Given the description of an element on the screen output the (x, y) to click on. 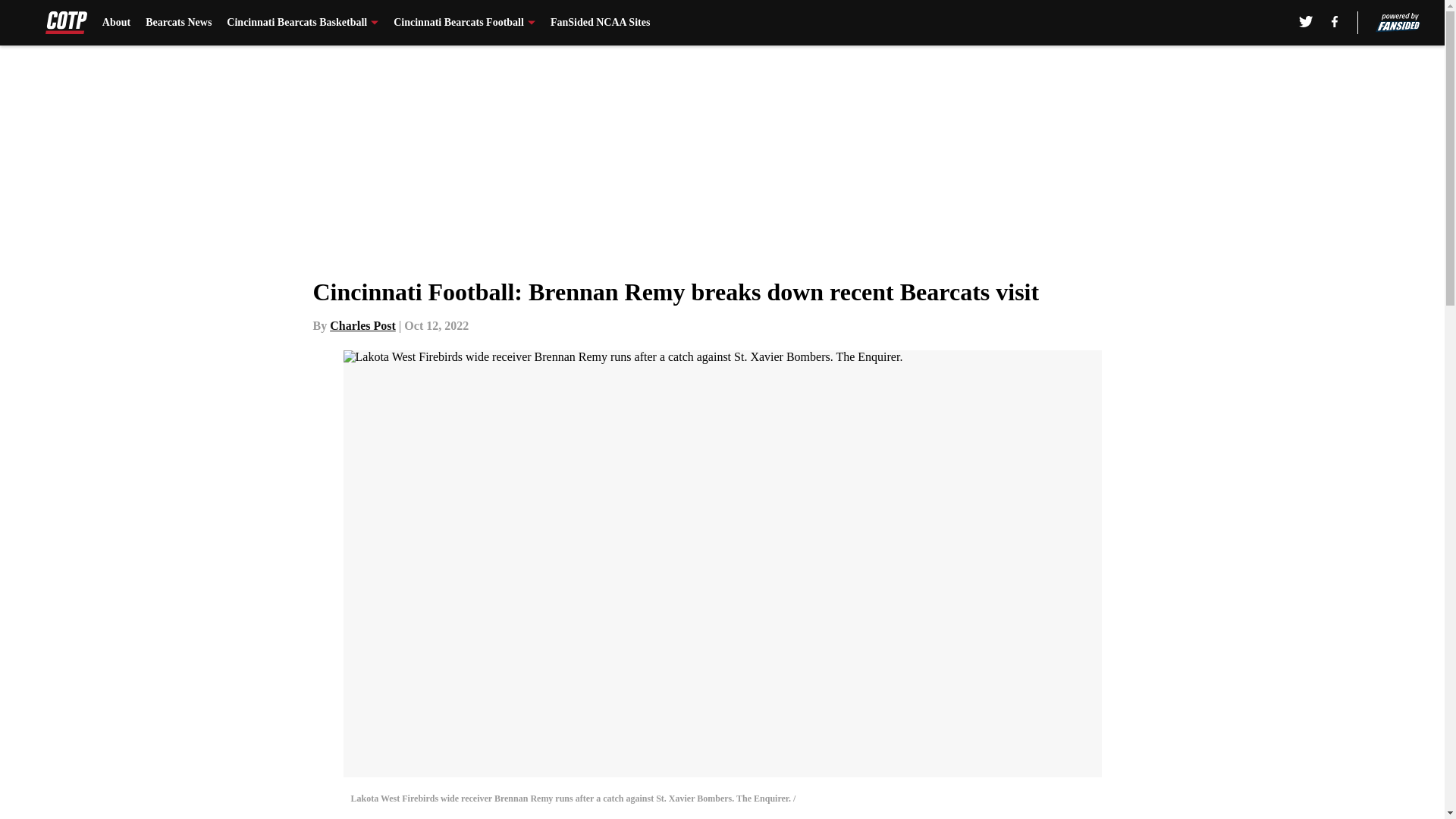
FanSided NCAA Sites (599, 22)
Bearcats News (178, 22)
Charles Post (363, 325)
About (116, 22)
